Given the description of an element on the screen output the (x, y) to click on. 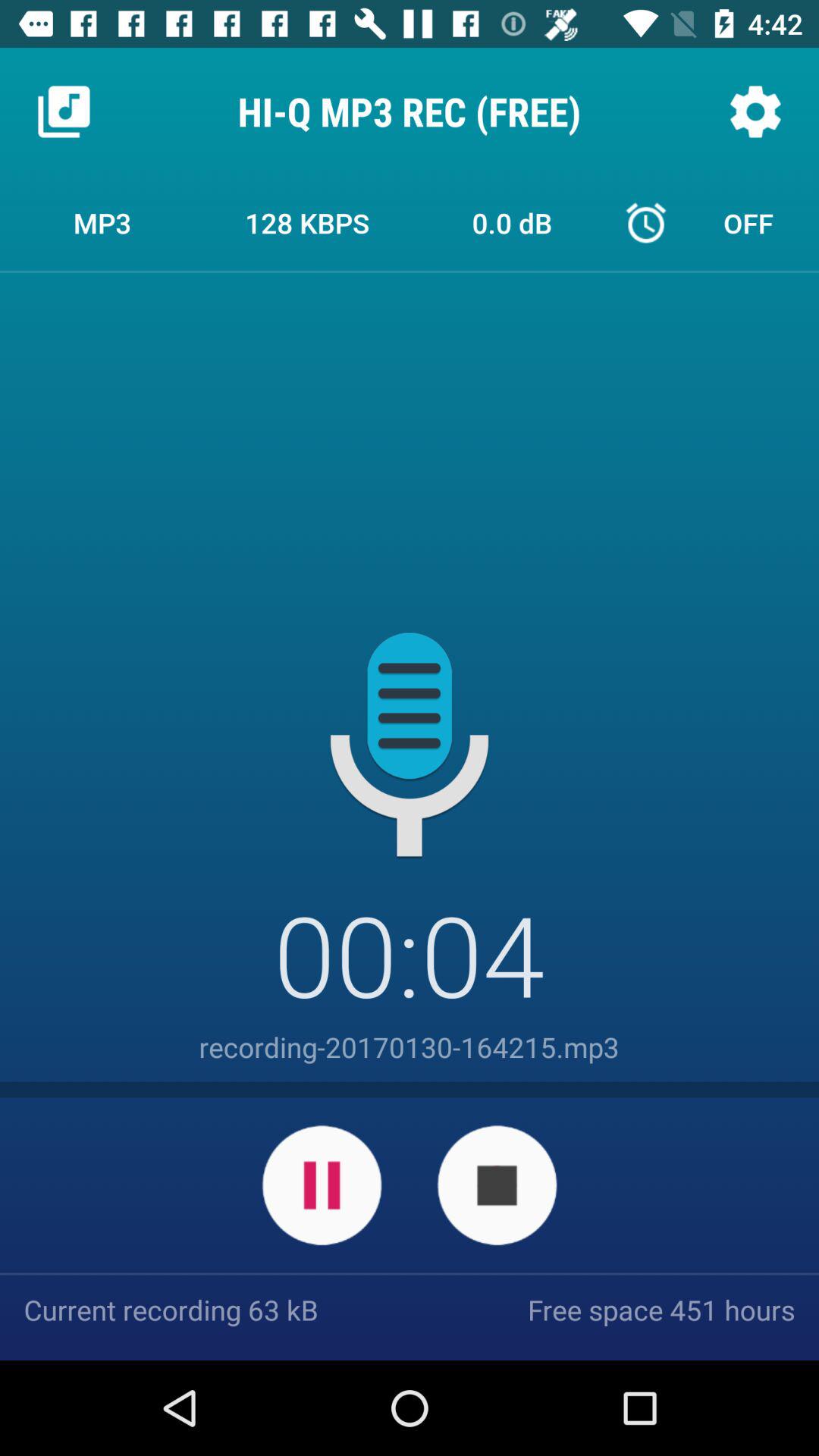
select the icon next to hi q mp3 icon (63, 111)
